Given the description of an element on the screen output the (x, y) to click on. 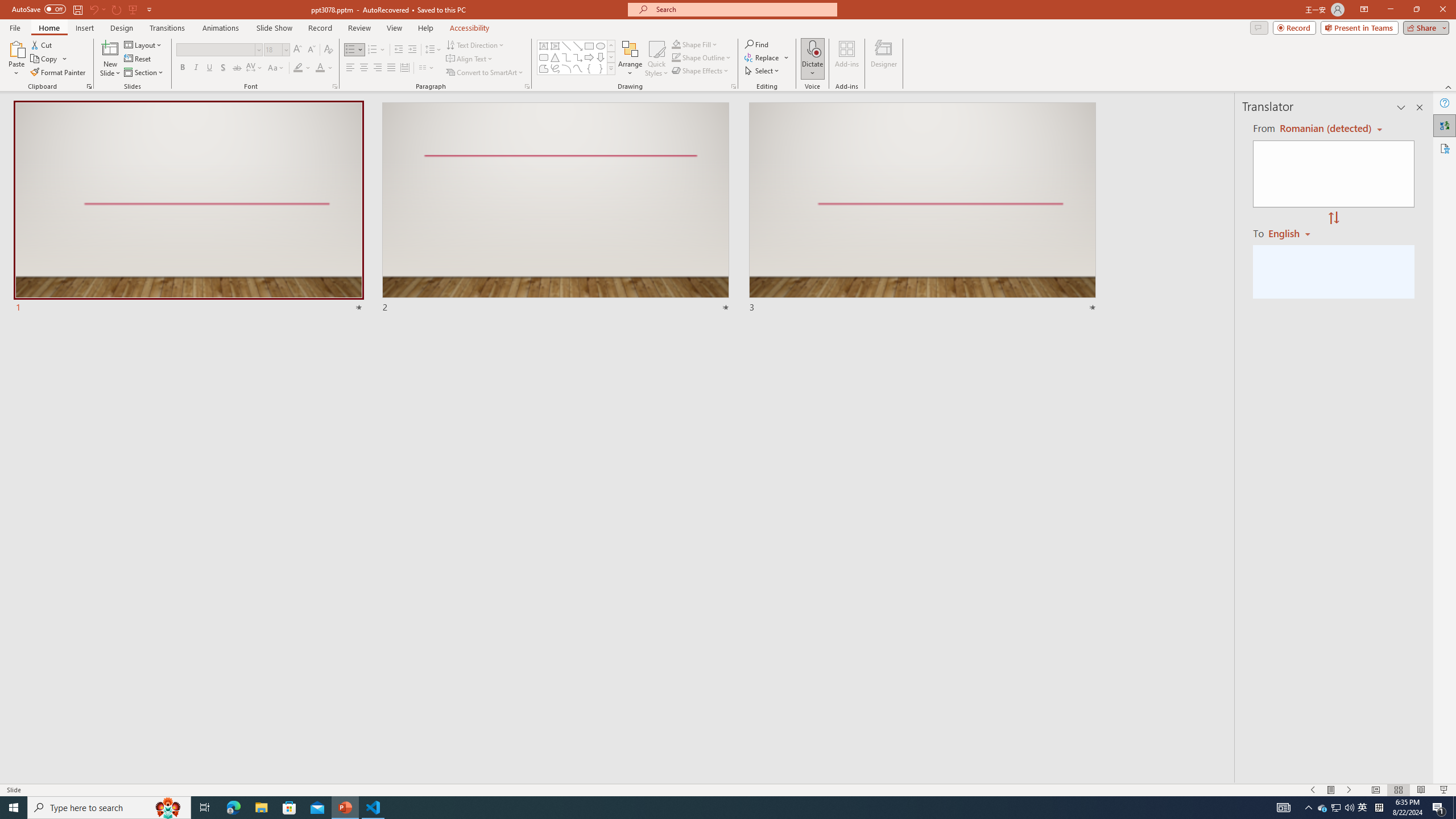
Swap "from" and "to" languages. (1333, 218)
